Given the description of an element on the screen output the (x, y) to click on. 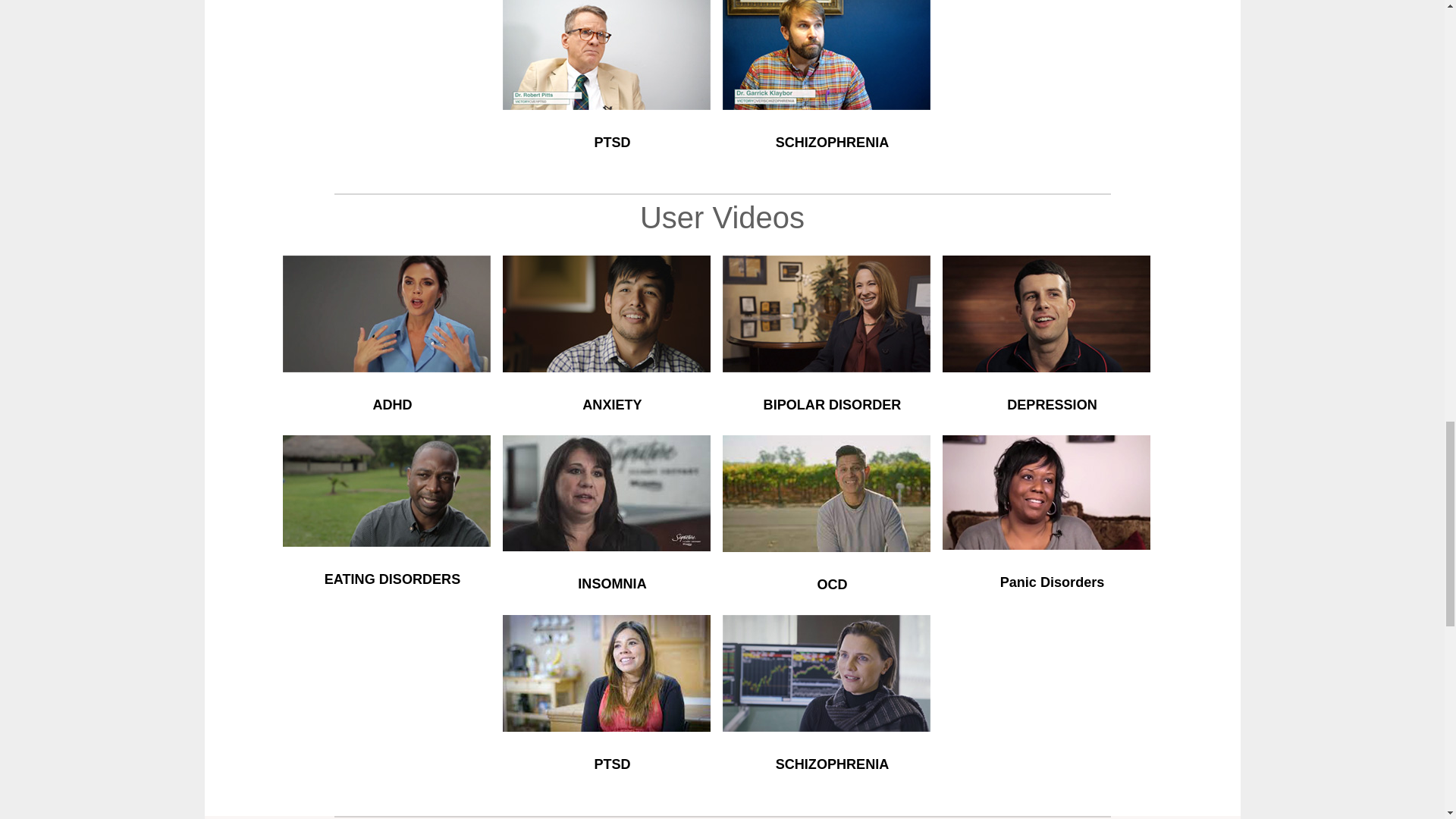
EATING DISORDERS (392, 579)
ADHD (392, 404)
OCD (831, 584)
DEPRESSION (1052, 404)
ANXIETY (612, 404)
BIPOLAR DISORDER (831, 404)
PTSD (612, 142)
INSOMNIA (612, 583)
SCHIZOPHRENIA (832, 142)
